Given the description of an element on the screen output the (x, y) to click on. 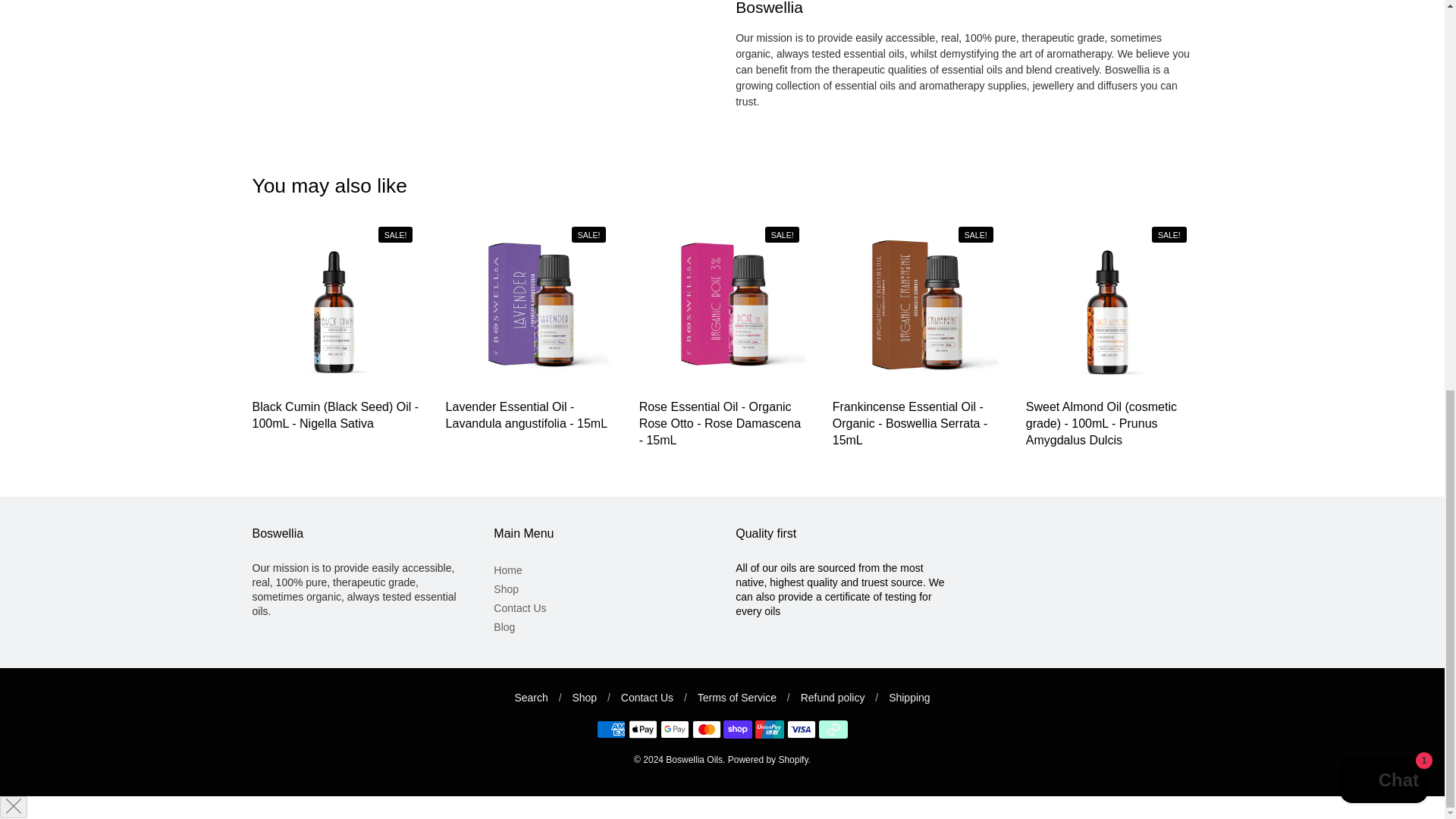
Visa (801, 729)
American Express (611, 729)
Apple Pay (643, 729)
Union Pay (769, 729)
Mastercard (706, 729)
Lavender Essential Oil - Lavandula angustifolia - 15mL (526, 414)
Rose Essential Oil - Organic Rose Otto - Rose Damascena (722, 305)
Shop Pay (737, 729)
Lavender Essential Oil - Lavandula angustifolia (528, 305)
Google Pay (674, 729)
